Given the description of an element on the screen output the (x, y) to click on. 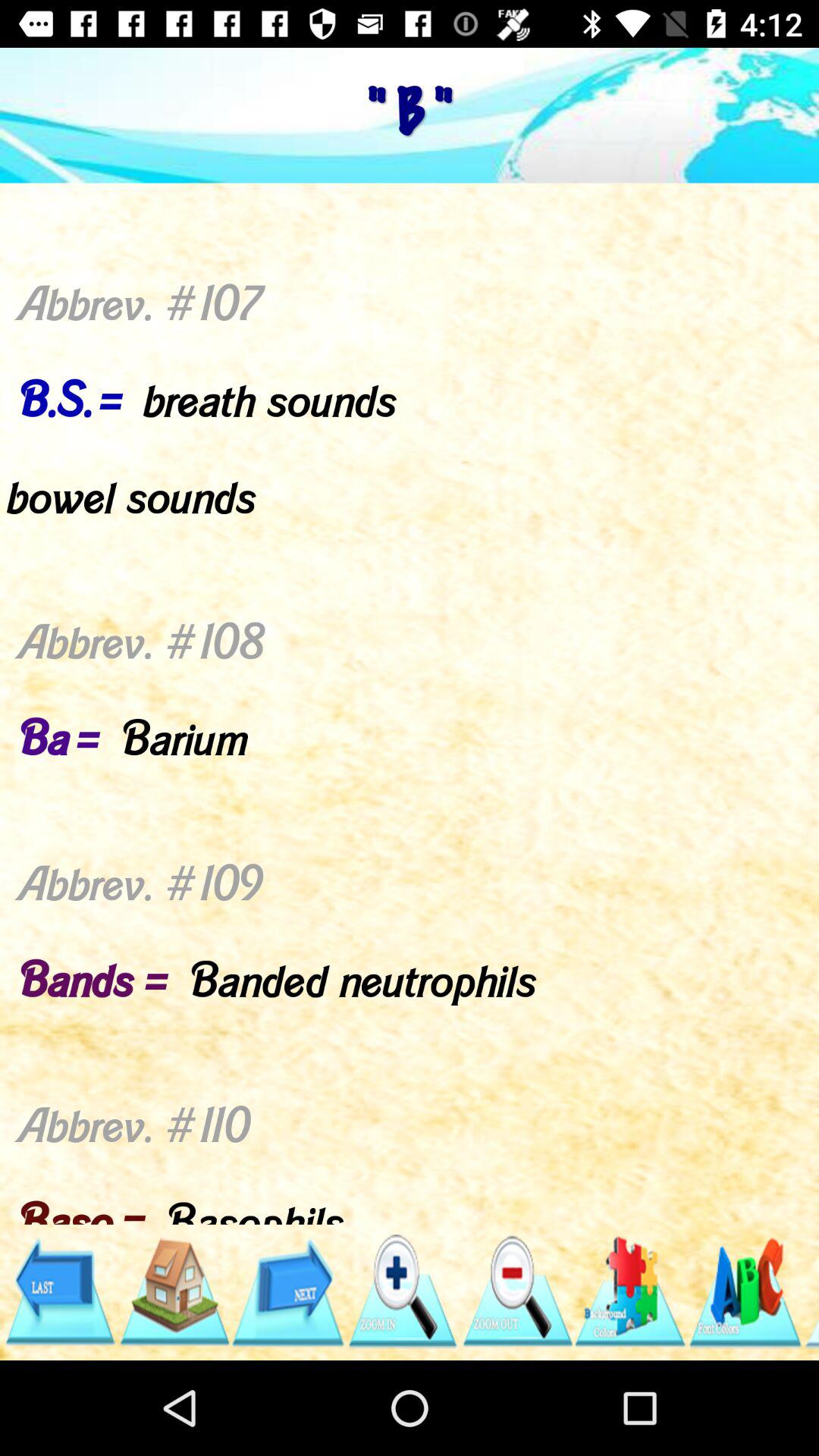
downsize (516, 1291)
